Given the description of an element on the screen output the (x, y) to click on. 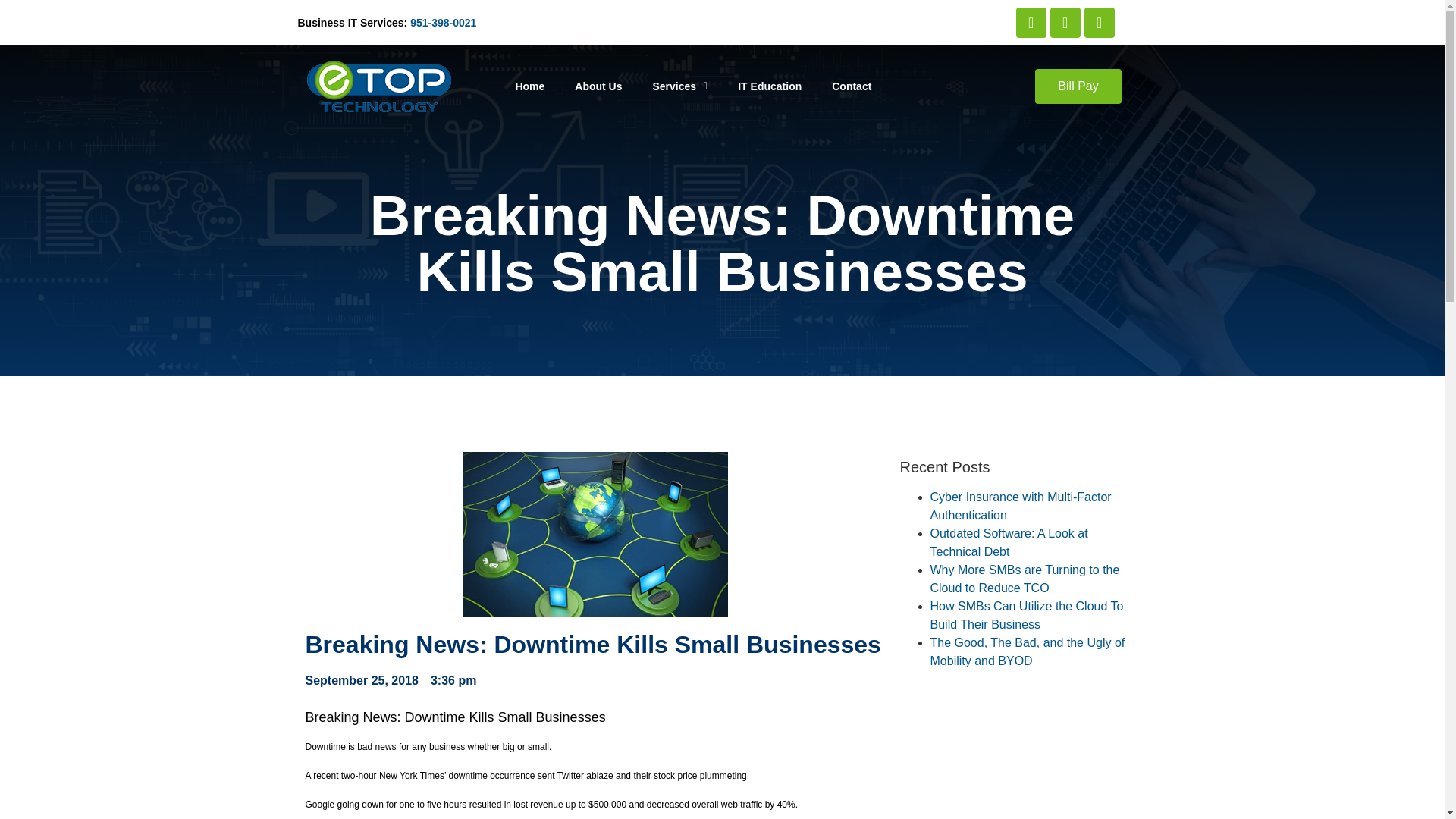
Bill Pay (1078, 86)
951-398-0021 (443, 22)
Cyber Insurance with Multi-Factor Authentication (1020, 505)
Why More SMBs are Turning to the Cloud to Reduce TCO (1024, 578)
How SMBs Can Utilize the Cloud To Build Their Business (1026, 614)
Home (529, 86)
The Good, The Bad, and the Ugly of Mobility and BYOD (1027, 651)
Contact (851, 86)
September 25, 2018 (360, 680)
IT Education (769, 86)
